Given the description of an element on the screen output the (x, y) to click on. 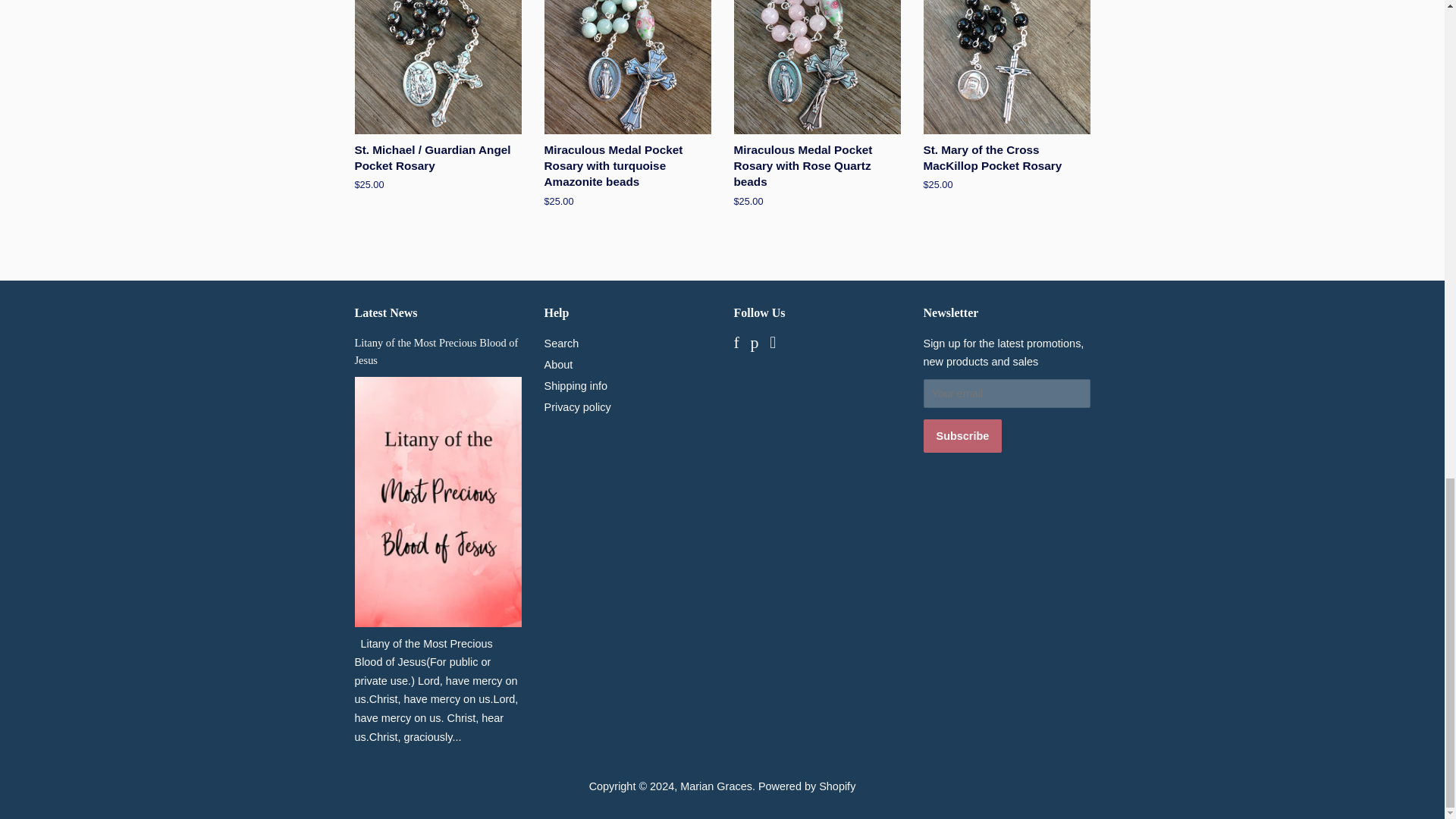
Subscribe (963, 435)
